Given the description of an element on the screen output the (x, y) to click on. 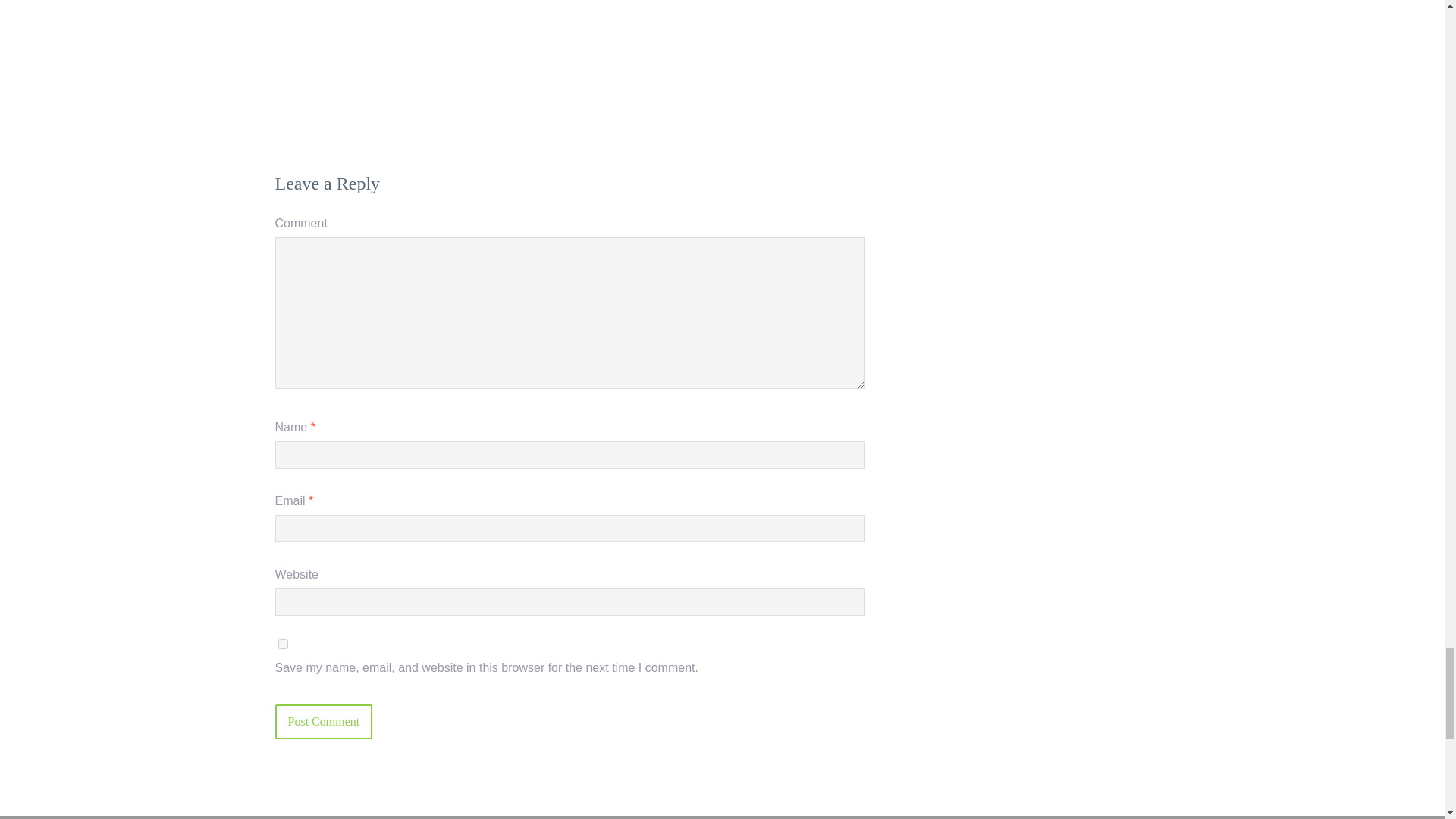
yes (282, 644)
Post Comment (323, 721)
Post Comment (323, 721)
